Given the description of an element on the screen output the (x, y) to click on. 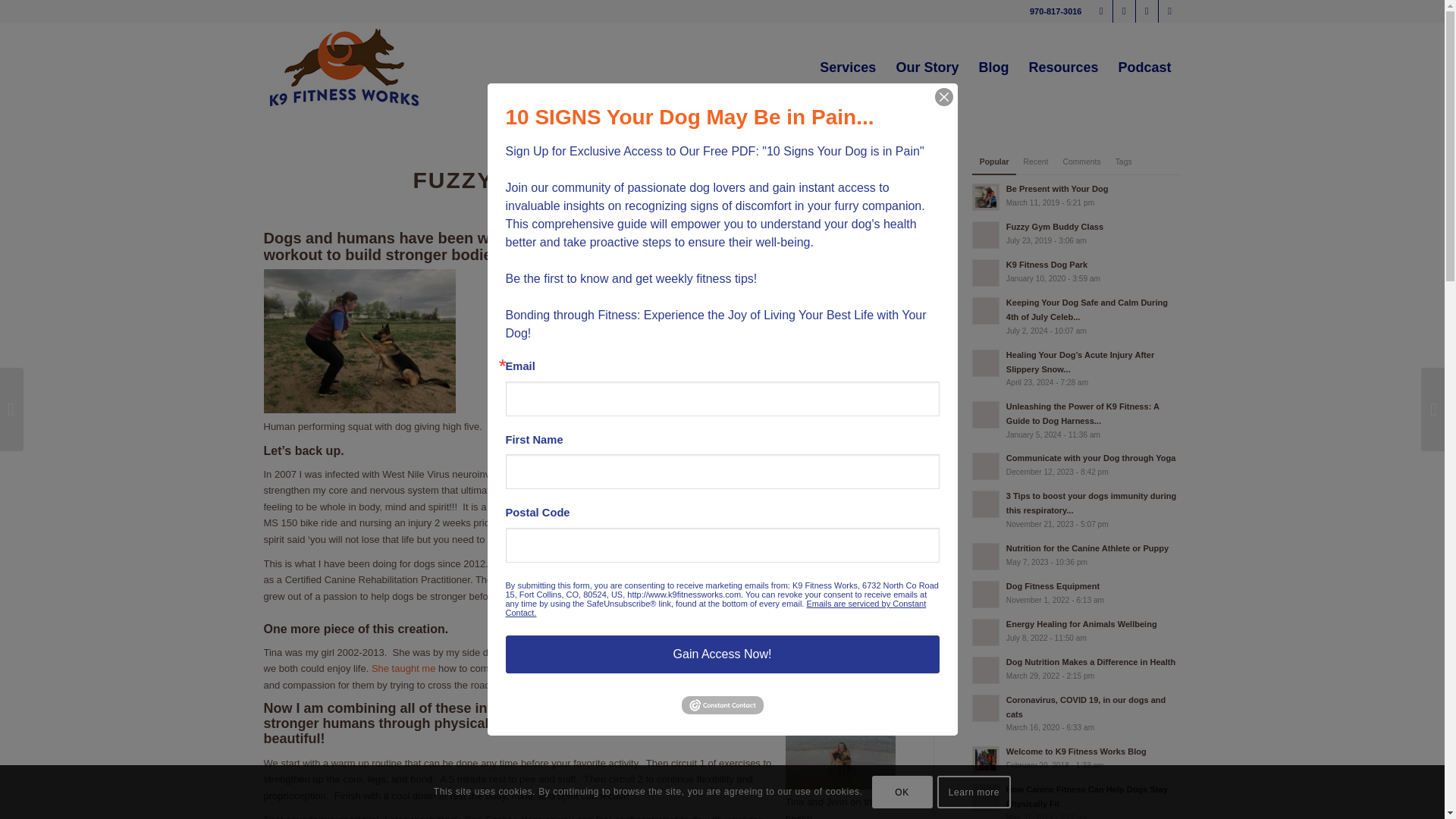
Youtube (1146, 11)
Facebook (1101, 11)
K9 Fitness Works LOGO V5 (344, 67)
LinkedIn (1169, 11)
Instagram (1124, 11)
Our Story (926, 67)
Resources (1062, 67)
She taught me (403, 668)
CANINE EXERCISES (579, 157)
